Given the description of an element on the screen output the (x, y) to click on. 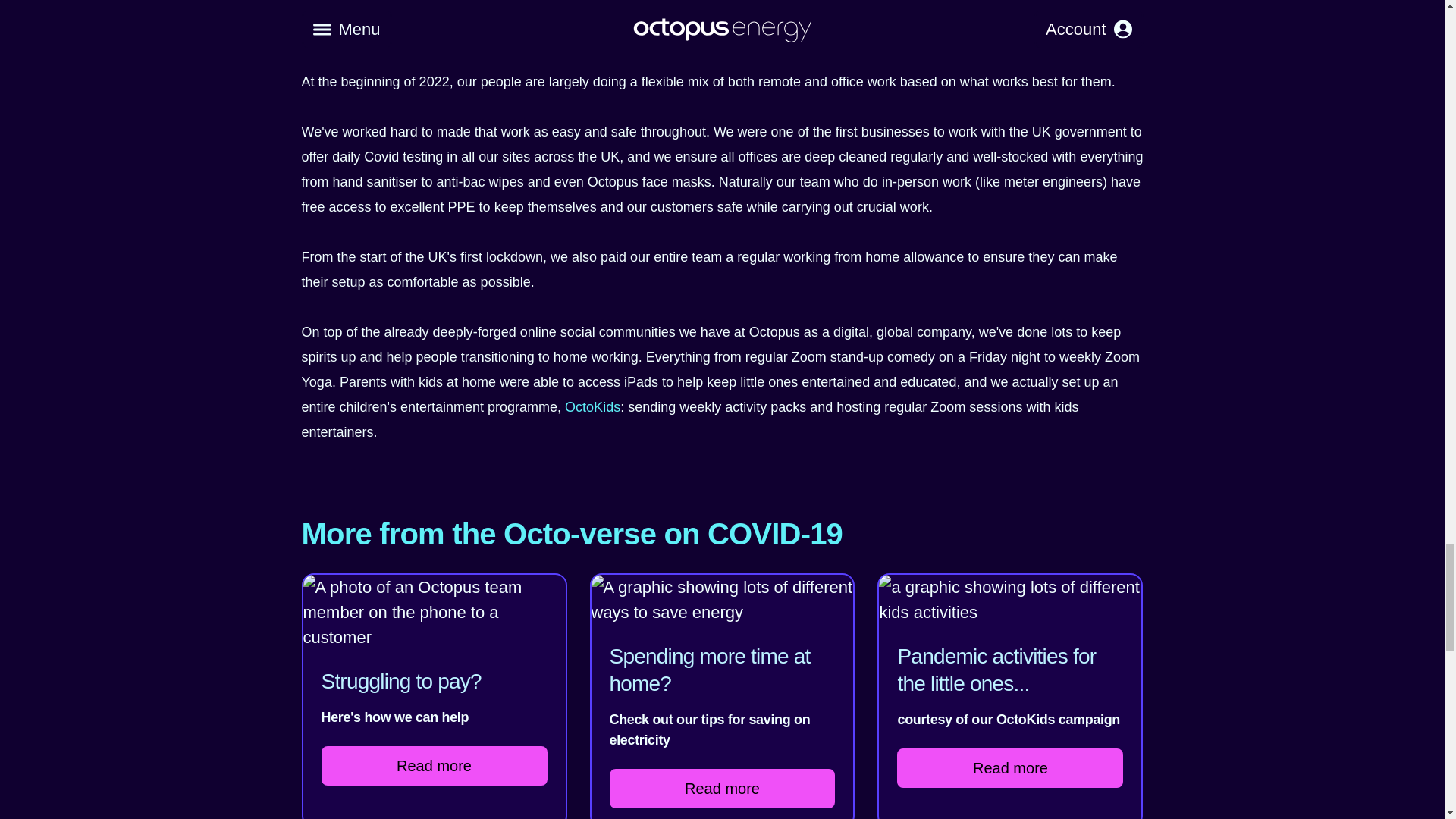
OctoKids (592, 406)
Read more (434, 765)
